Given the description of an element on the screen output the (x, y) to click on. 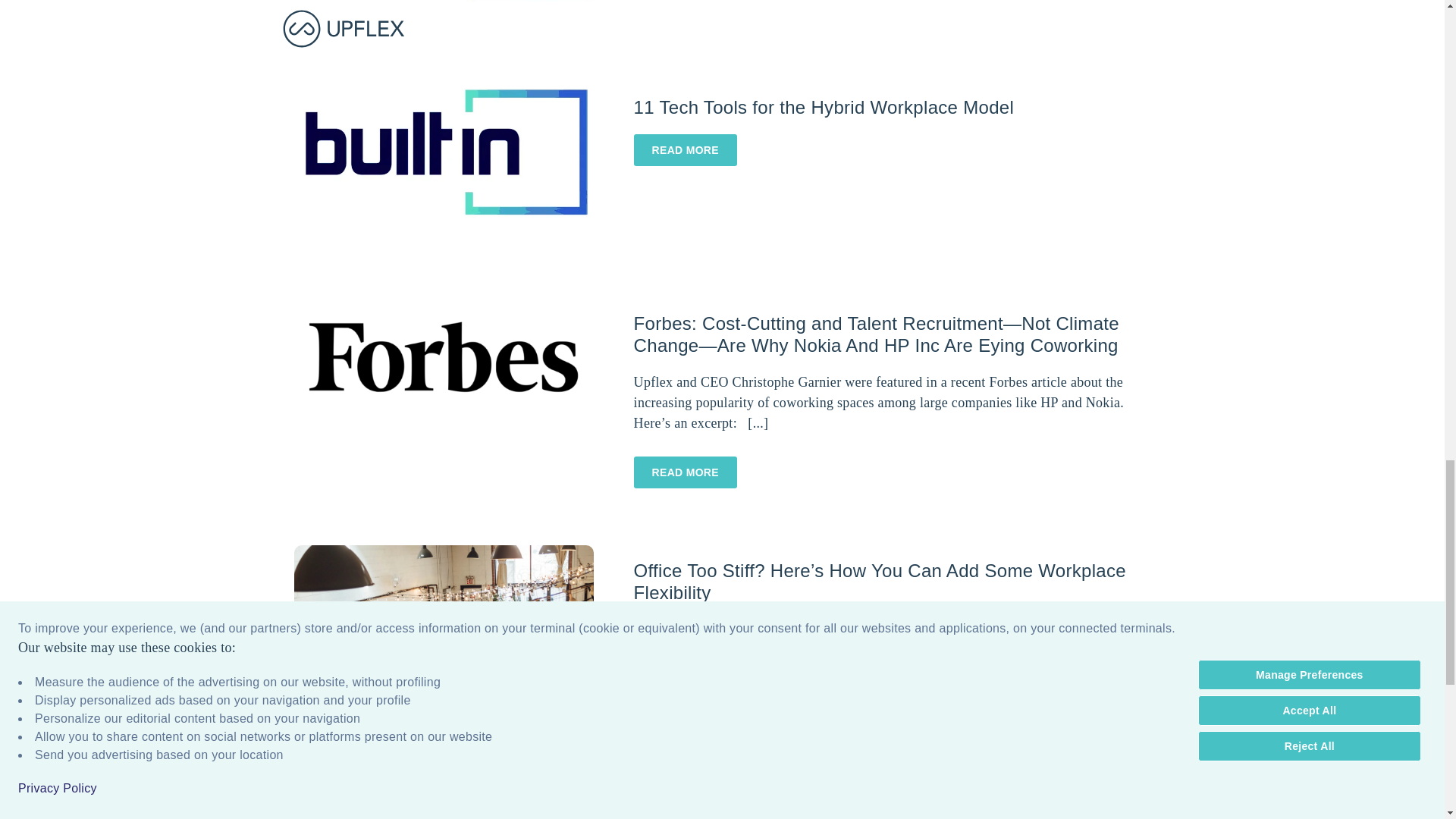
READ MORE (684, 719)
READ MORE (684, 150)
READ MORE (684, 472)
11 Tech Tools for the Hybrid Workplace Model (823, 107)
READ MORE (684, 150)
READ MORE (684, 472)
READ MORE (684, 719)
